Given the description of an element on the screen output the (x, y) to click on. 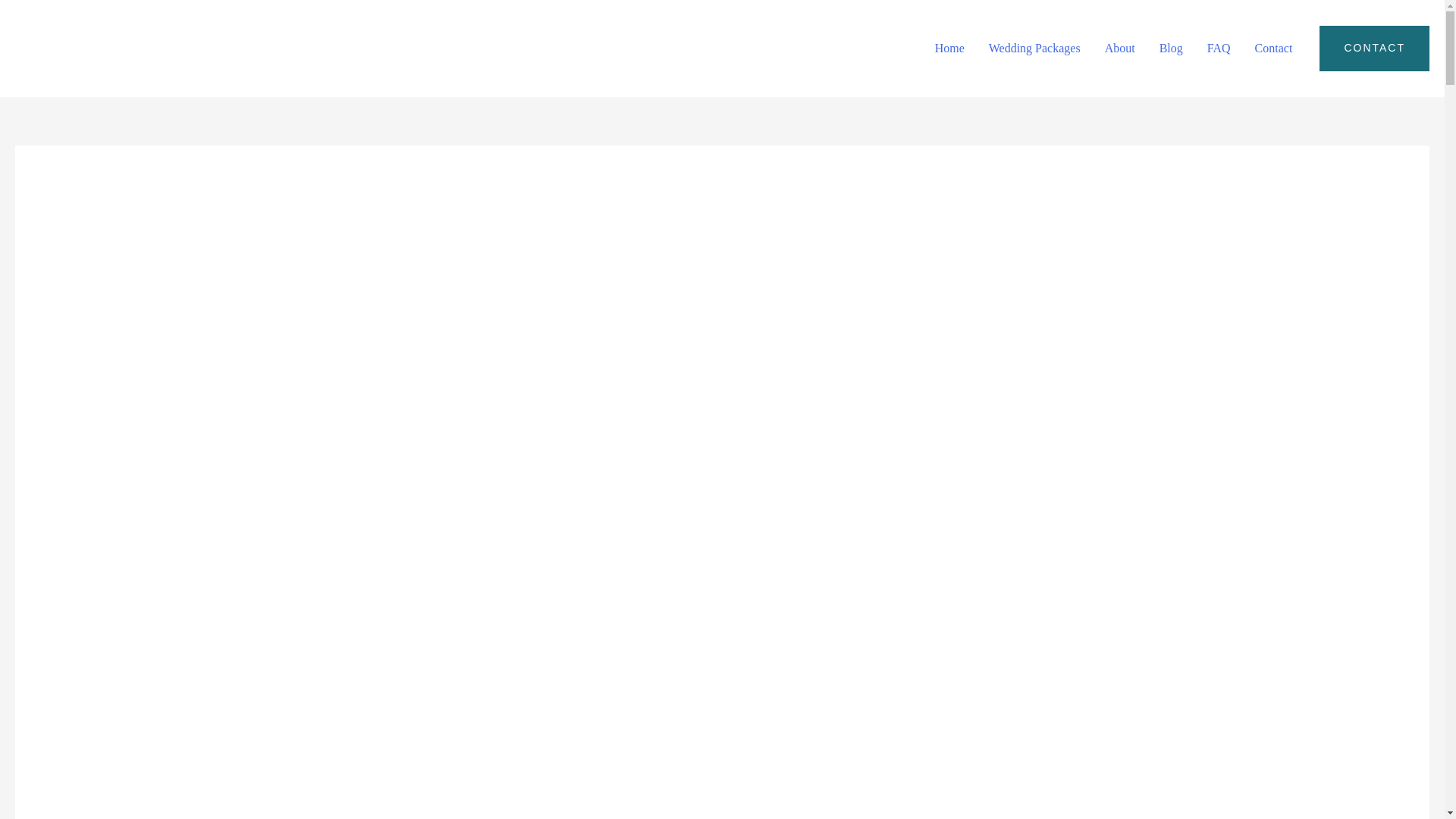
FAQ (1219, 48)
Home (949, 48)
About (1120, 48)
Blog (1171, 48)
CONTACT (1374, 48)
Wedding Packages (1034, 48)
Contact (1273, 48)
